Given the description of an element on the screen output the (x, y) to click on. 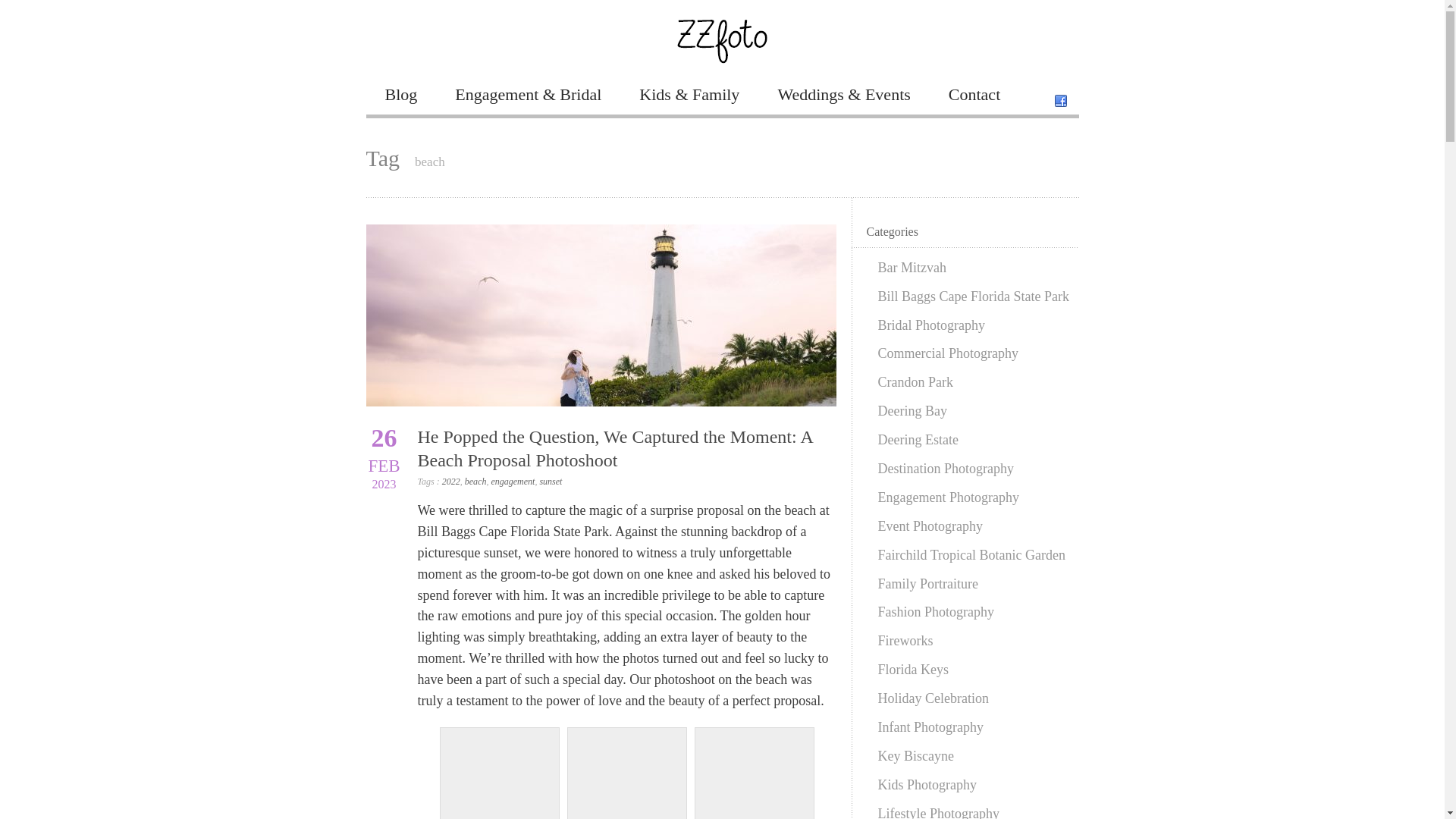
Blog (400, 94)
Contact (974, 94)
2022 (451, 480)
sunset (550, 480)
engagement (512, 480)
beach (475, 480)
